Given the description of an element on the screen output the (x, y) to click on. 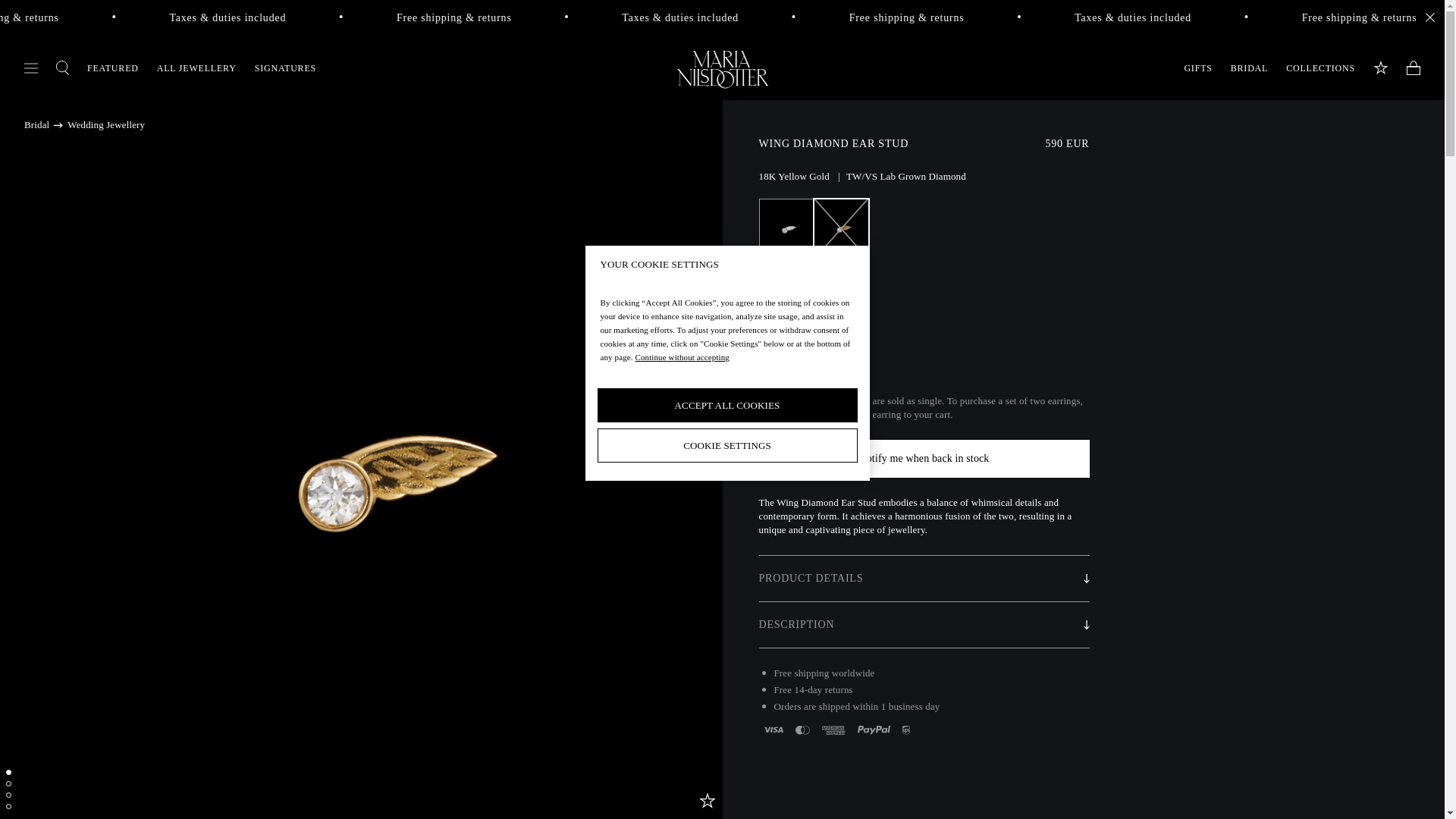
FEATURED (112, 67)
BRIDAL (1249, 67)
COLLECTIONS (1320, 67)
GIFTS (1197, 67)
ALL JEWELLERY (196, 67)
SIGNATURES (284, 67)
